Given the description of an element on the screen output the (x, y) to click on. 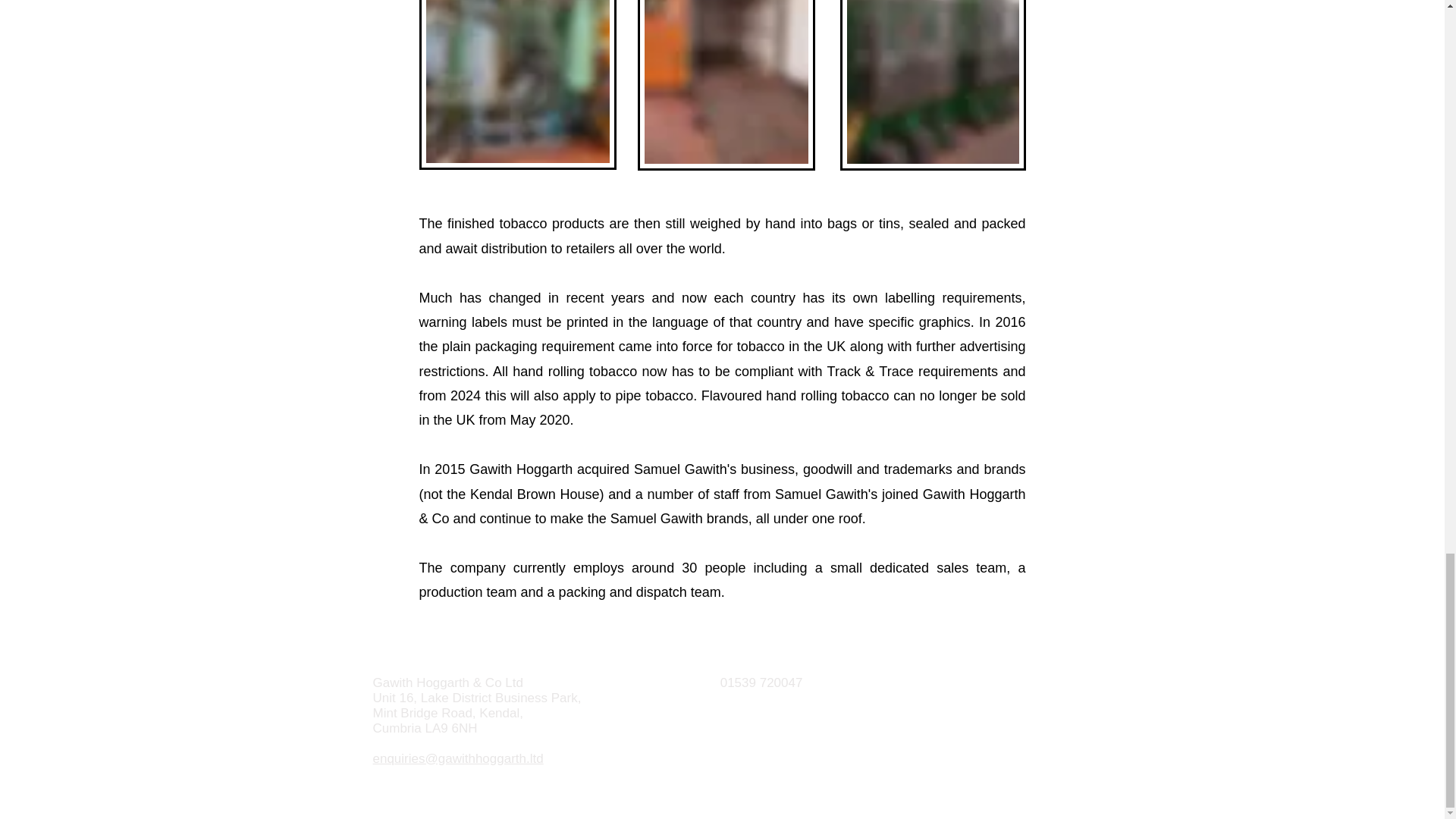
vaccum and steamer for tobacco (517, 84)
cold press for tobacco (933, 85)
vaccum and steamer for tobacco (725, 85)
